Given the description of an element on the screen output the (x, y) to click on. 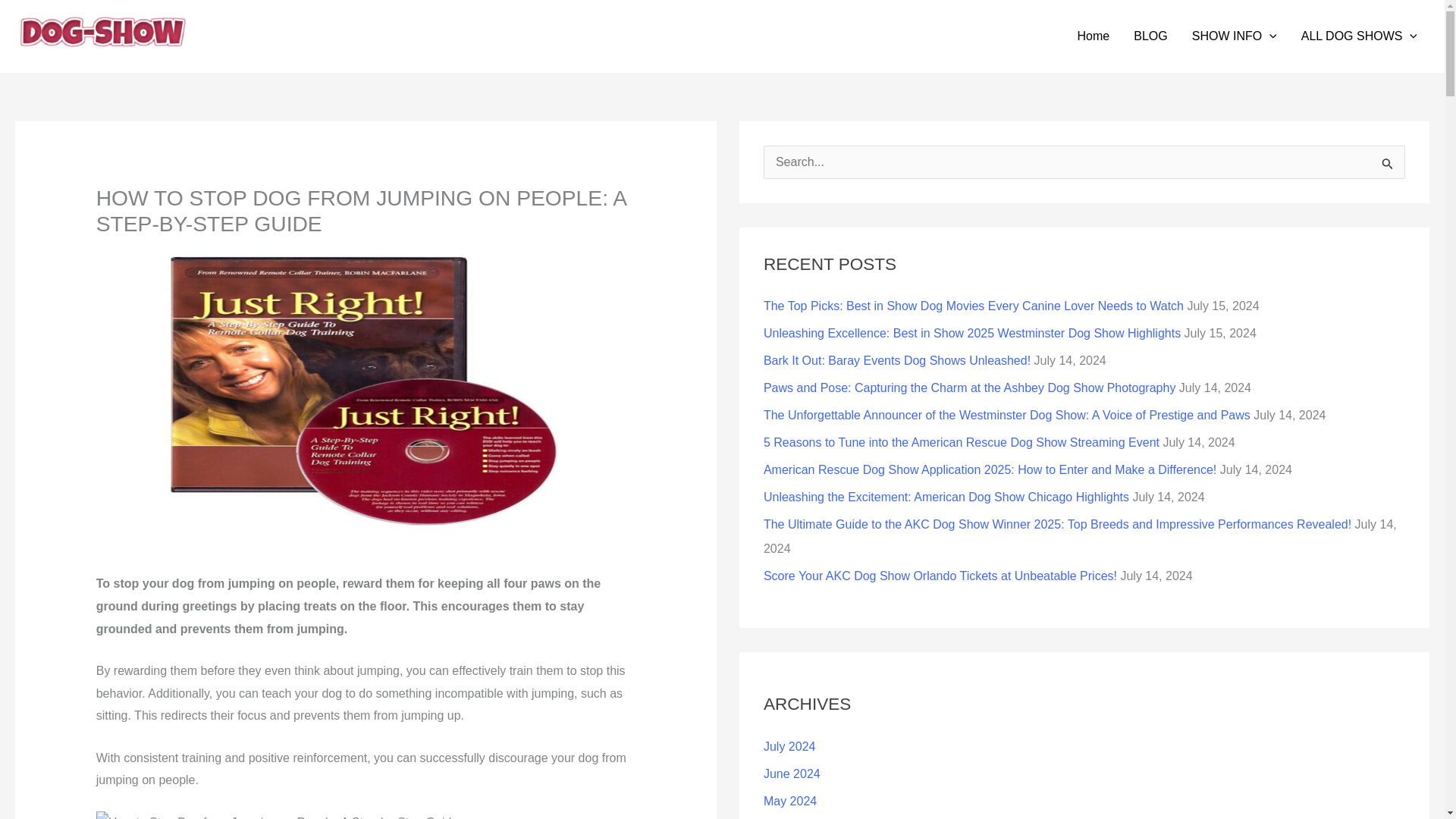
SHOW INFO (1233, 36)
Search (1388, 166)
ALL DOG SHOWS (1358, 36)
Home (1093, 36)
BLOG (1150, 36)
Search (1388, 166)
Search (1388, 166)
